Given the description of an element on the screen output the (x, y) to click on. 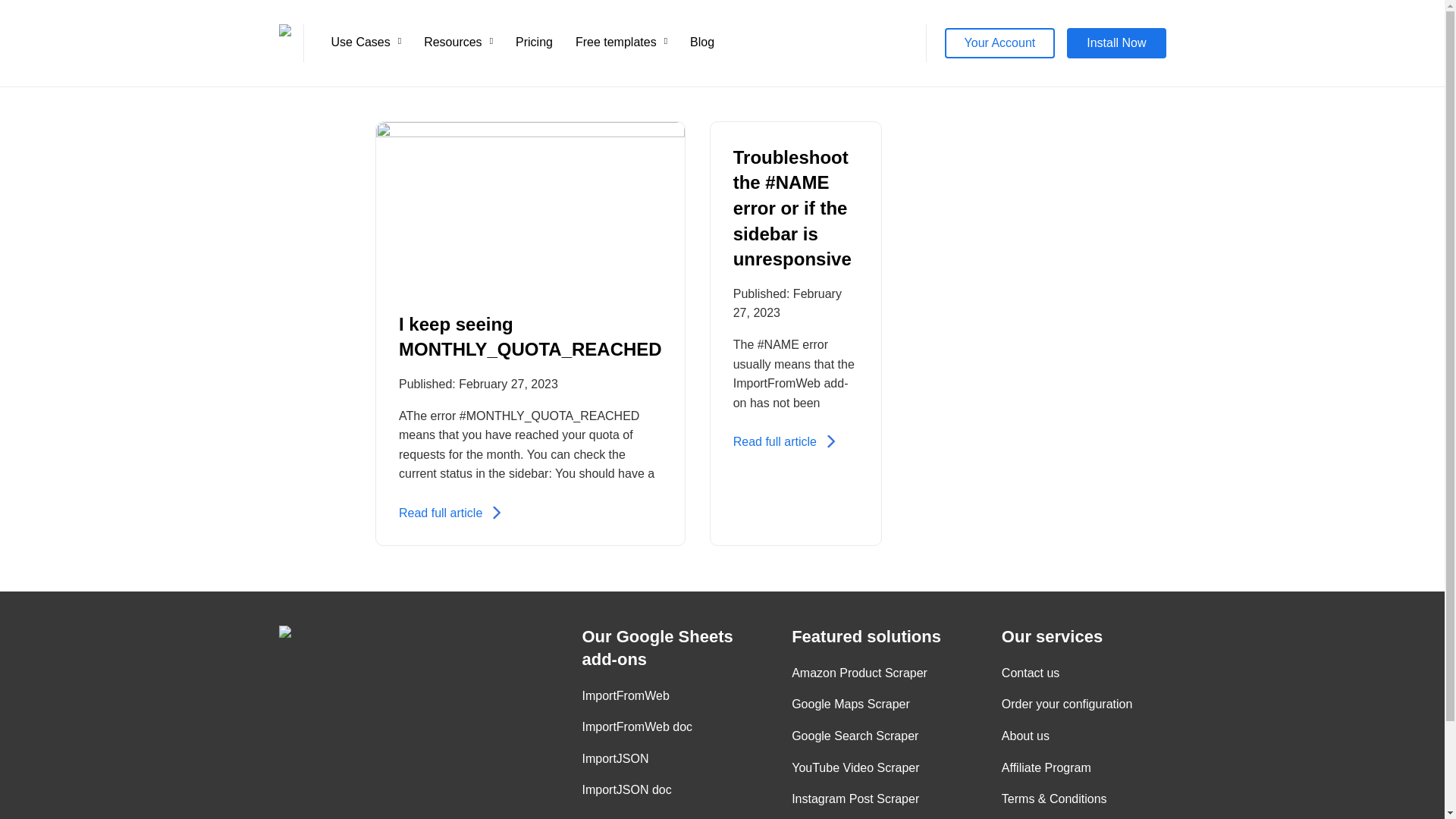
Read full article (774, 440)
ImportFromWeb (625, 695)
YouTube Video Scraper (855, 767)
ImportJSON doc (626, 789)
Read full article (439, 512)
Google Search Scraper (855, 735)
Use Cases (365, 42)
Google Maps Scraper (851, 704)
NoDataNoBusiness (354, 631)
Your Account (999, 42)
